Given the description of an element on the screen output the (x, y) to click on. 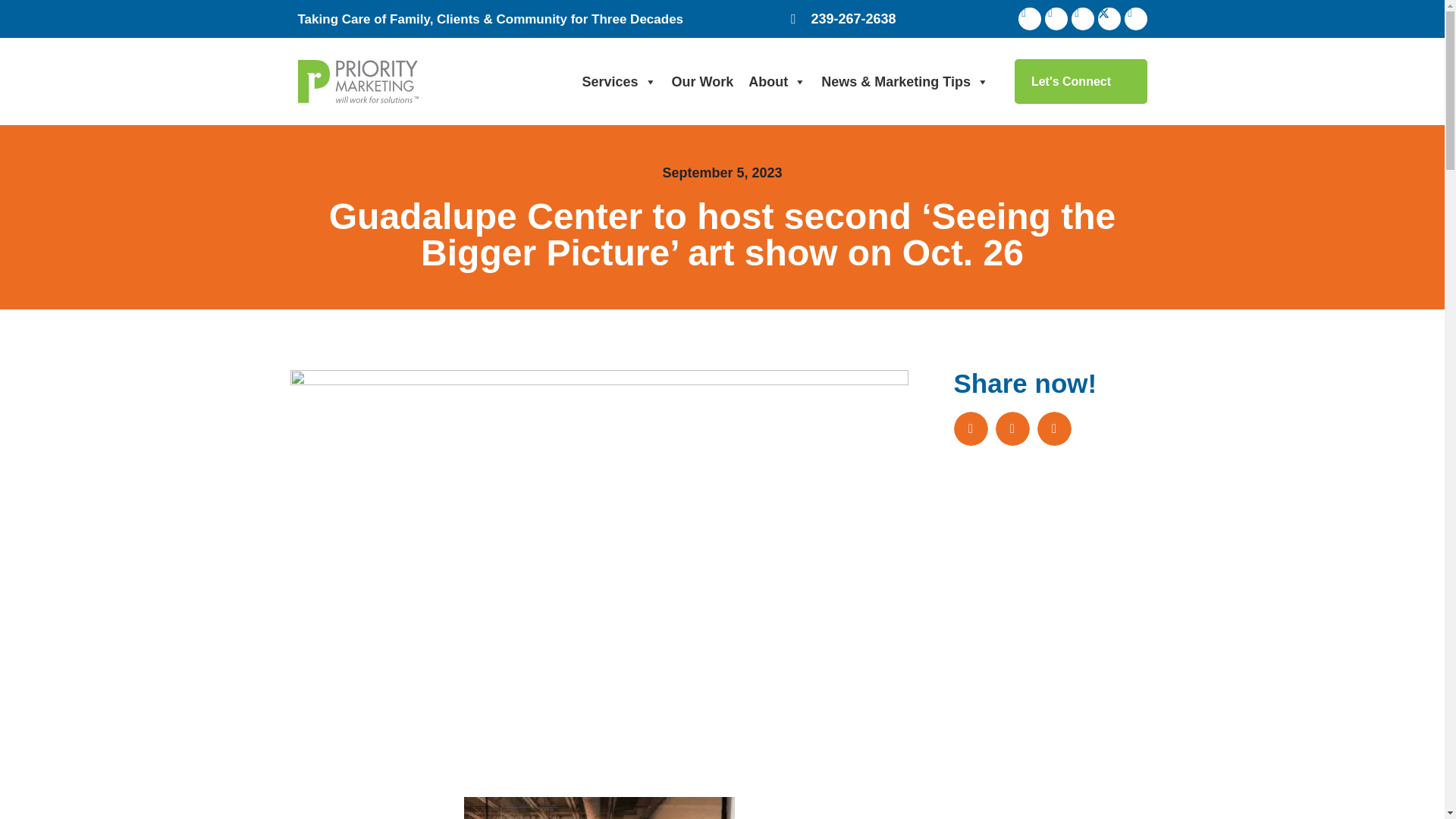
About (777, 81)
Our Work (702, 81)
Services (619, 81)
239-267-2638 (843, 19)
Let's Connect (1080, 81)
